Given the description of an element on the screen output the (x, y) to click on. 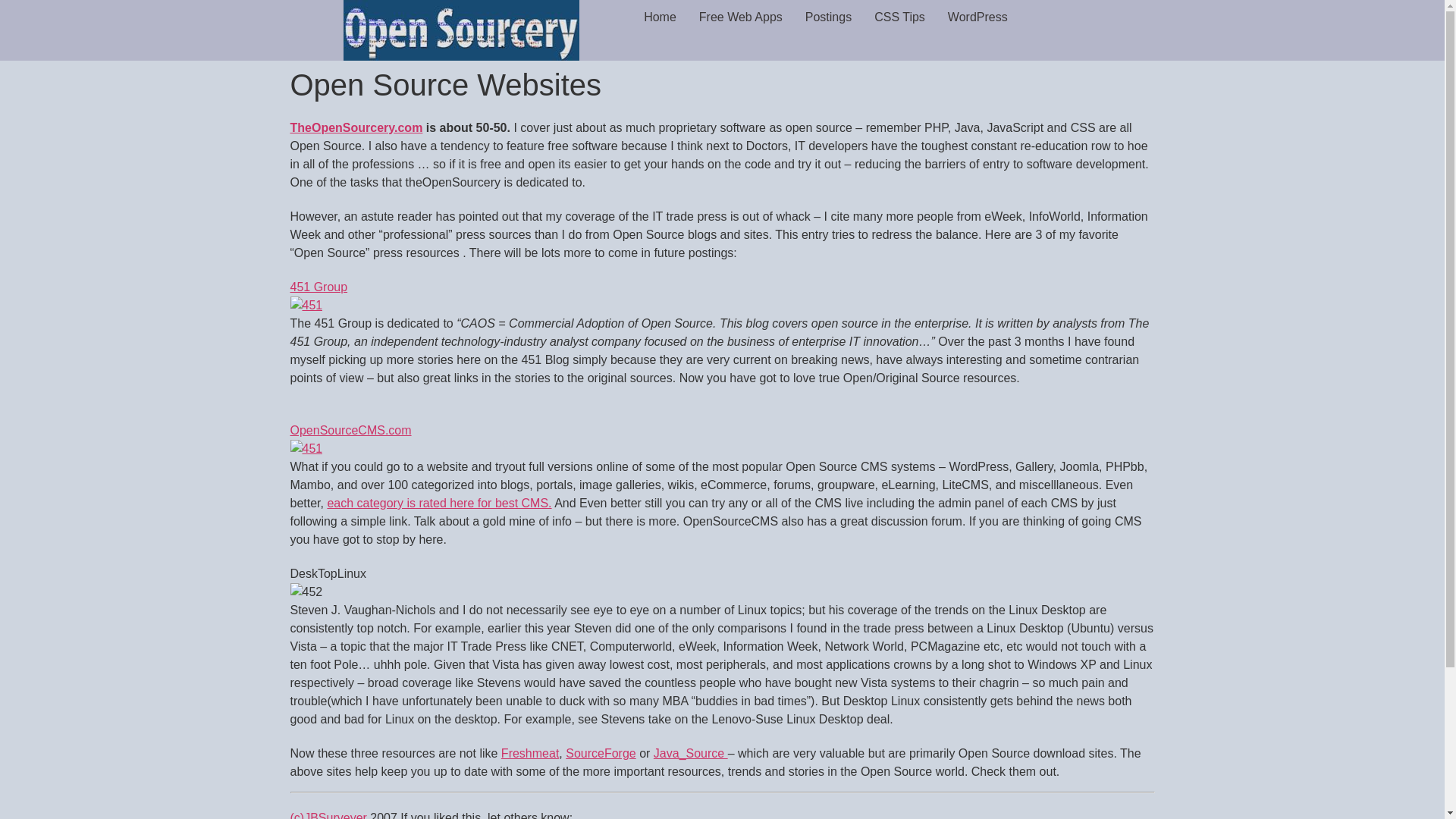
theopensonly (461, 30)
OpenSourceCMS.com (349, 448)
Free Web Apps (740, 17)
Postings (828, 17)
Freshmeat (529, 753)
CSS Tips (899, 17)
SourceForge (601, 753)
TheOpenSourcery.com (355, 127)
each category is rated here for best CMS. (438, 502)
451 Group (318, 296)
